Given the description of an element on the screen output the (x, y) to click on. 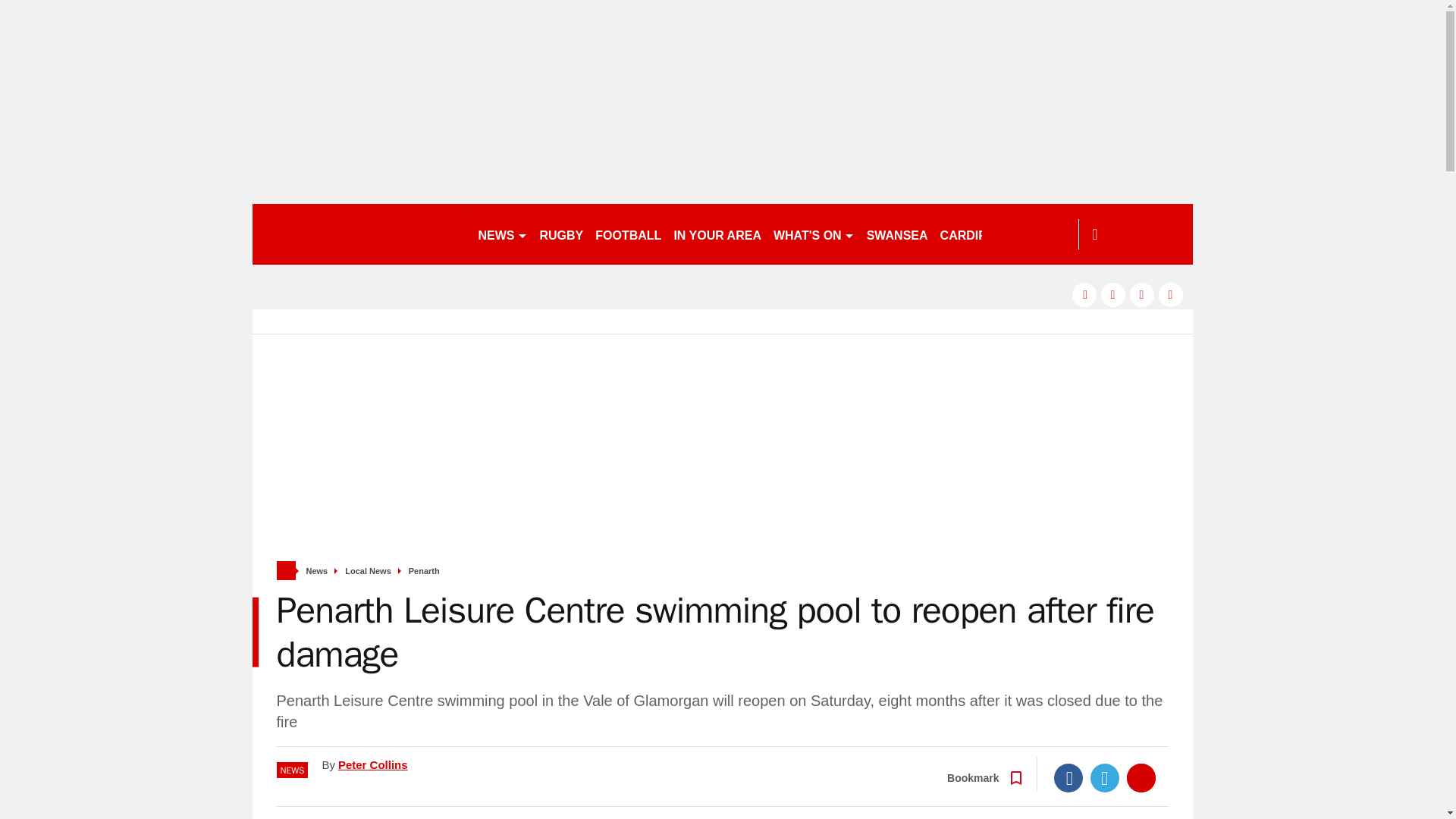
FOOTBALL (627, 233)
RUGBY (561, 233)
IN YOUR AREA (716, 233)
WHAT'S ON (813, 233)
instagram (1170, 294)
pinterest (1141, 294)
facebook (1083, 294)
Facebook (1068, 777)
SWANSEA (897, 233)
NEWS (501, 233)
twitter (1112, 294)
walesonline (357, 233)
Twitter (1104, 777)
